Given the description of an element on the screen output the (x, y) to click on. 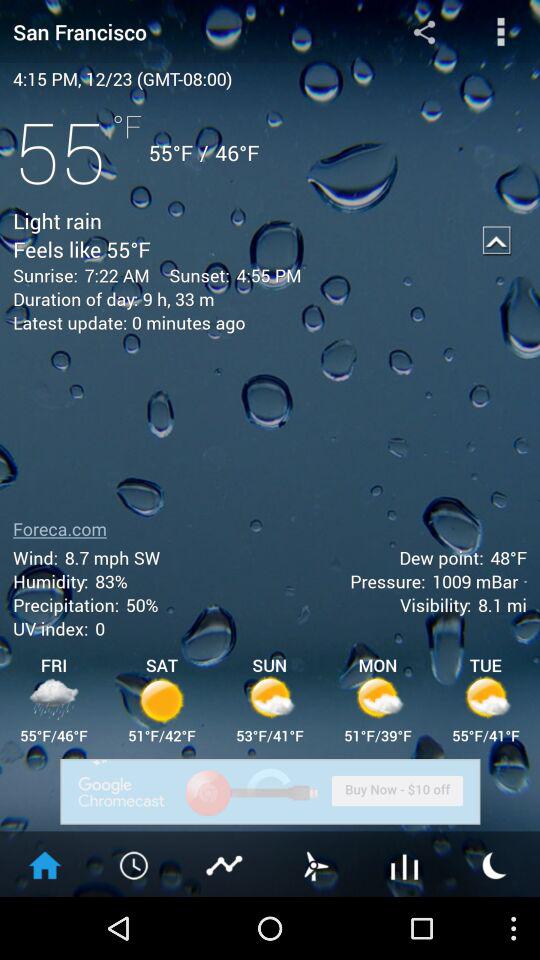
up arrow (497, 240)
